Given the description of an element on the screen output the (x, y) to click on. 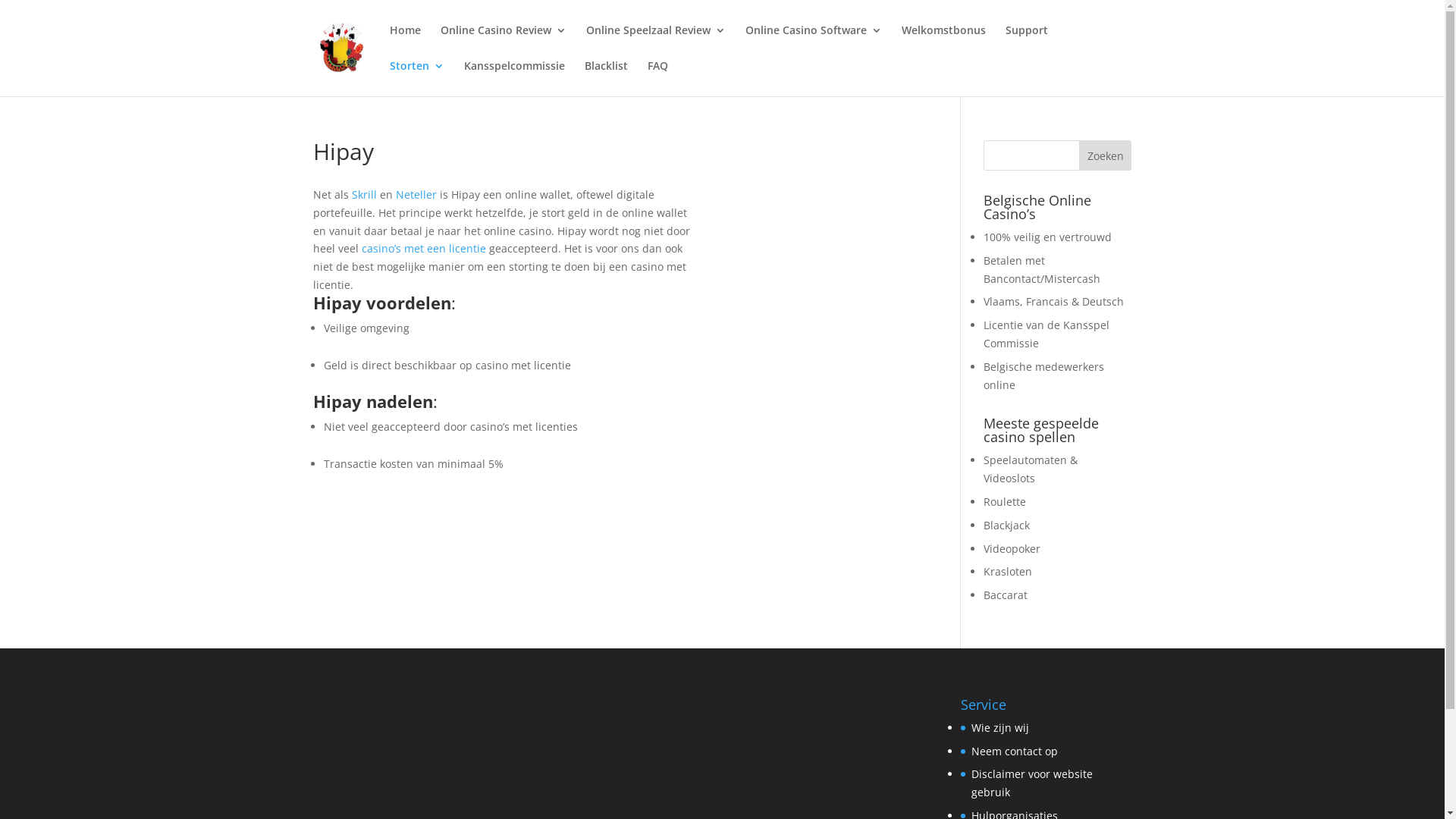
Skrill Element type: text (363, 194)
Welkomstbonus Element type: text (942, 42)
Online Speelzaal Review Element type: text (654, 42)
Kansspelcommissie Element type: text (514, 78)
Blacklist Element type: text (605, 78)
Neteller Element type: text (415, 194)
Support Element type: text (1026, 42)
Zoeken Element type: text (1105, 155)
Storten Element type: text (416, 78)
Home Element type: text (404, 42)
FAQ Element type: text (657, 78)
Online Casino Software Element type: text (812, 42)
Online Casino Review Element type: text (502, 42)
